Given the description of an element on the screen output the (x, y) to click on. 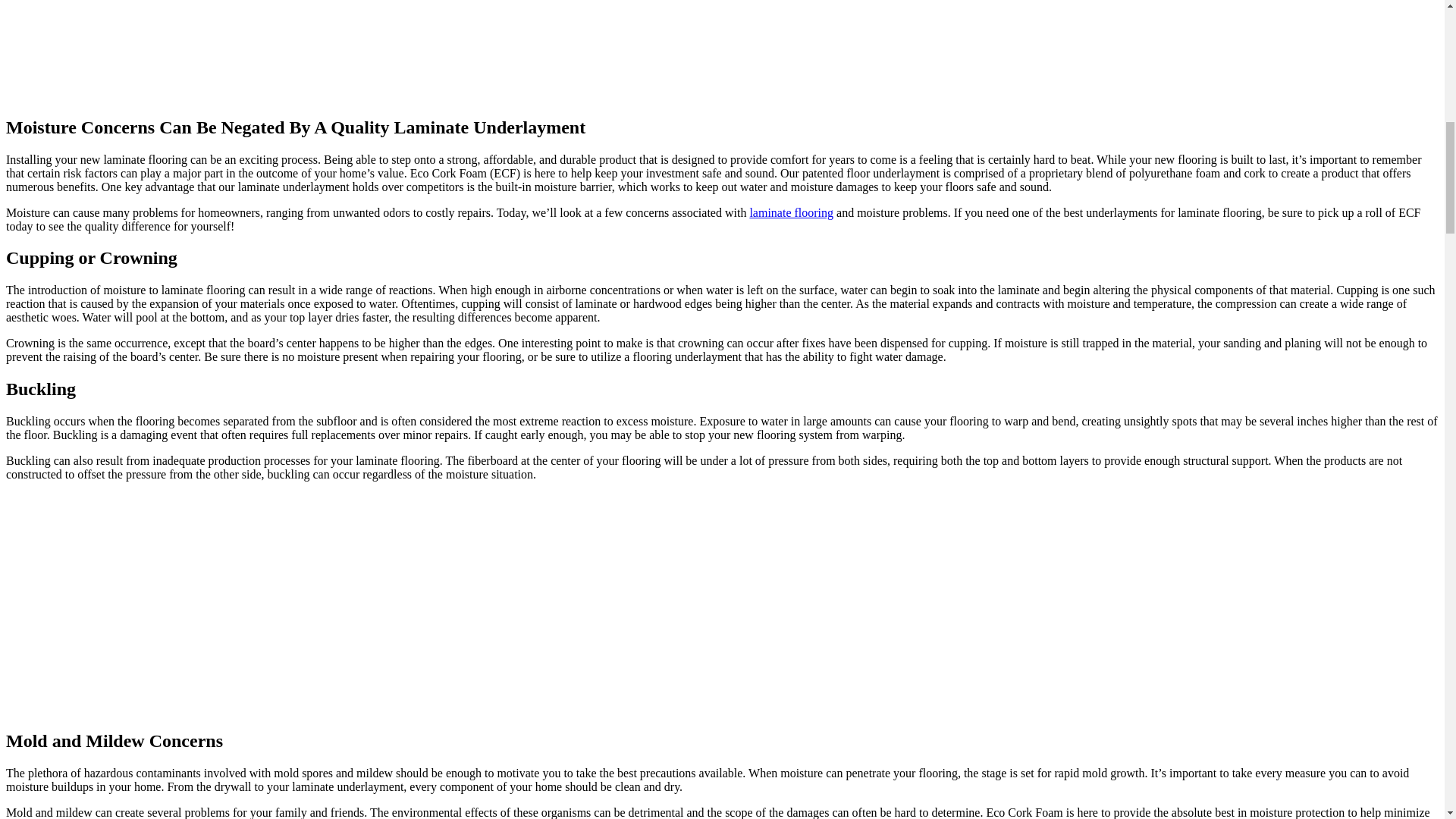
laminate flooring (790, 212)
